Given the description of an element on the screen output the (x, y) to click on. 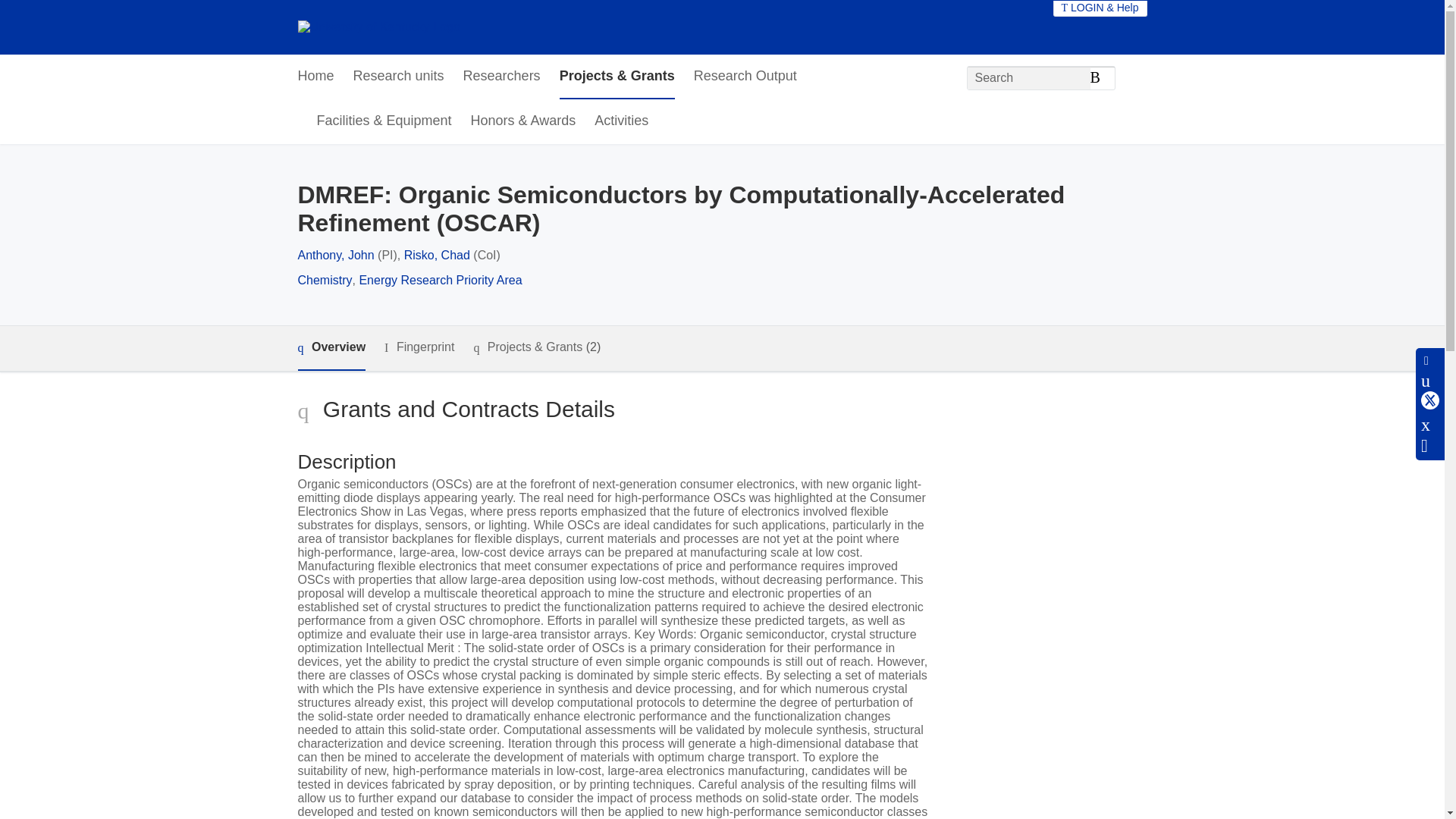
Risko, Chad (437, 254)
Chemistry (324, 279)
Research Output (745, 76)
University of Kentucky Home (378, 27)
Energy Research Priority Area (439, 279)
Fingerprint (419, 347)
Anthony, John (335, 254)
Researchers (501, 76)
Research units (398, 76)
